Given the description of an element on the screen output the (x, y) to click on. 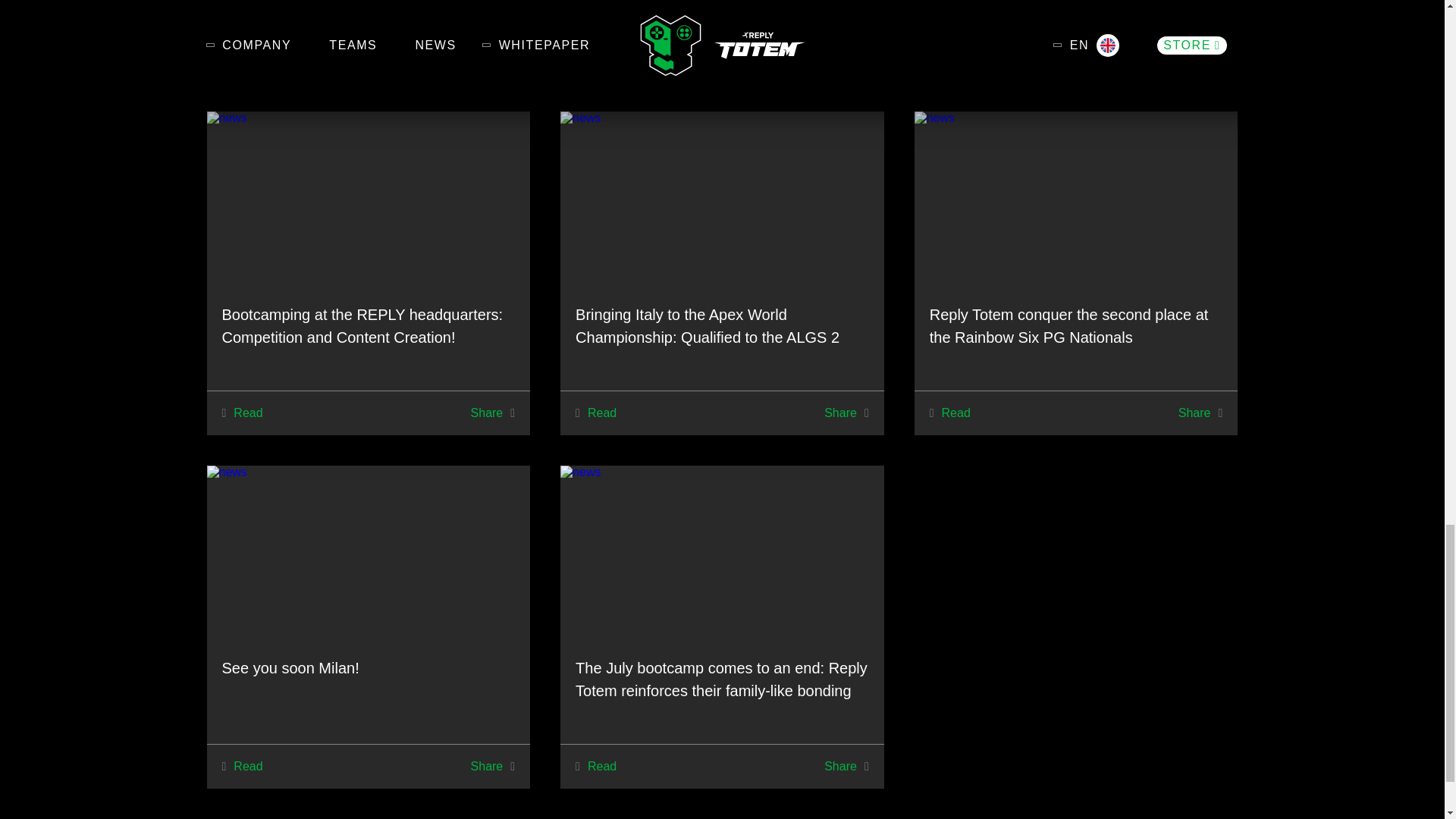
Read (245, 413)
Read (954, 413)
Read (599, 413)
